Given the description of an element on the screen output the (x, y) to click on. 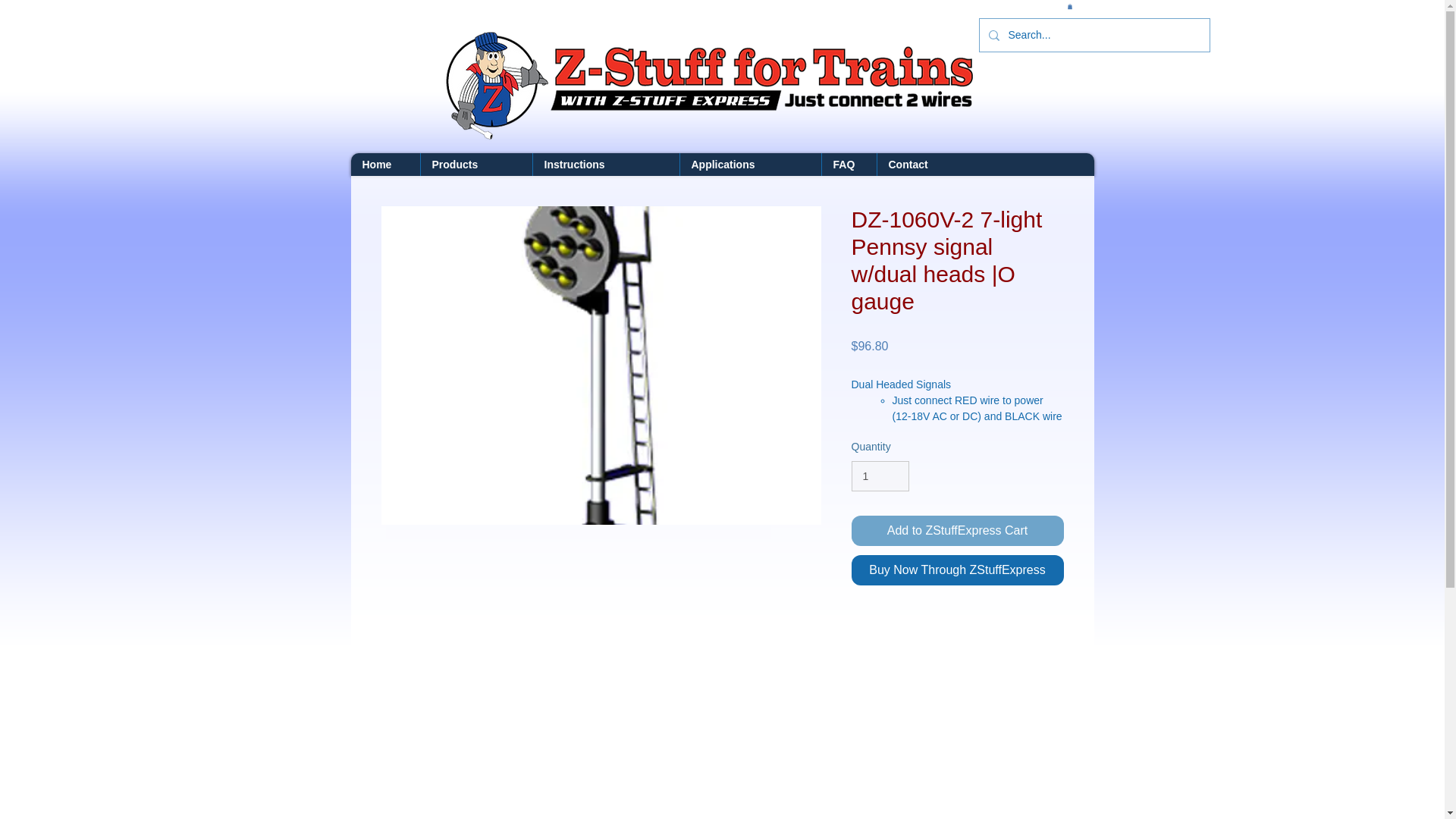
Contact (926, 164)
Buy Now Through ZStuffExpress (956, 570)
Products (476, 164)
FAQ (848, 164)
Applications (750, 164)
1 (879, 476)
Instructions (605, 164)
Home (384, 164)
Add to ZStuffExpress Cart (956, 530)
